Given the description of an element on the screen output the (x, y) to click on. 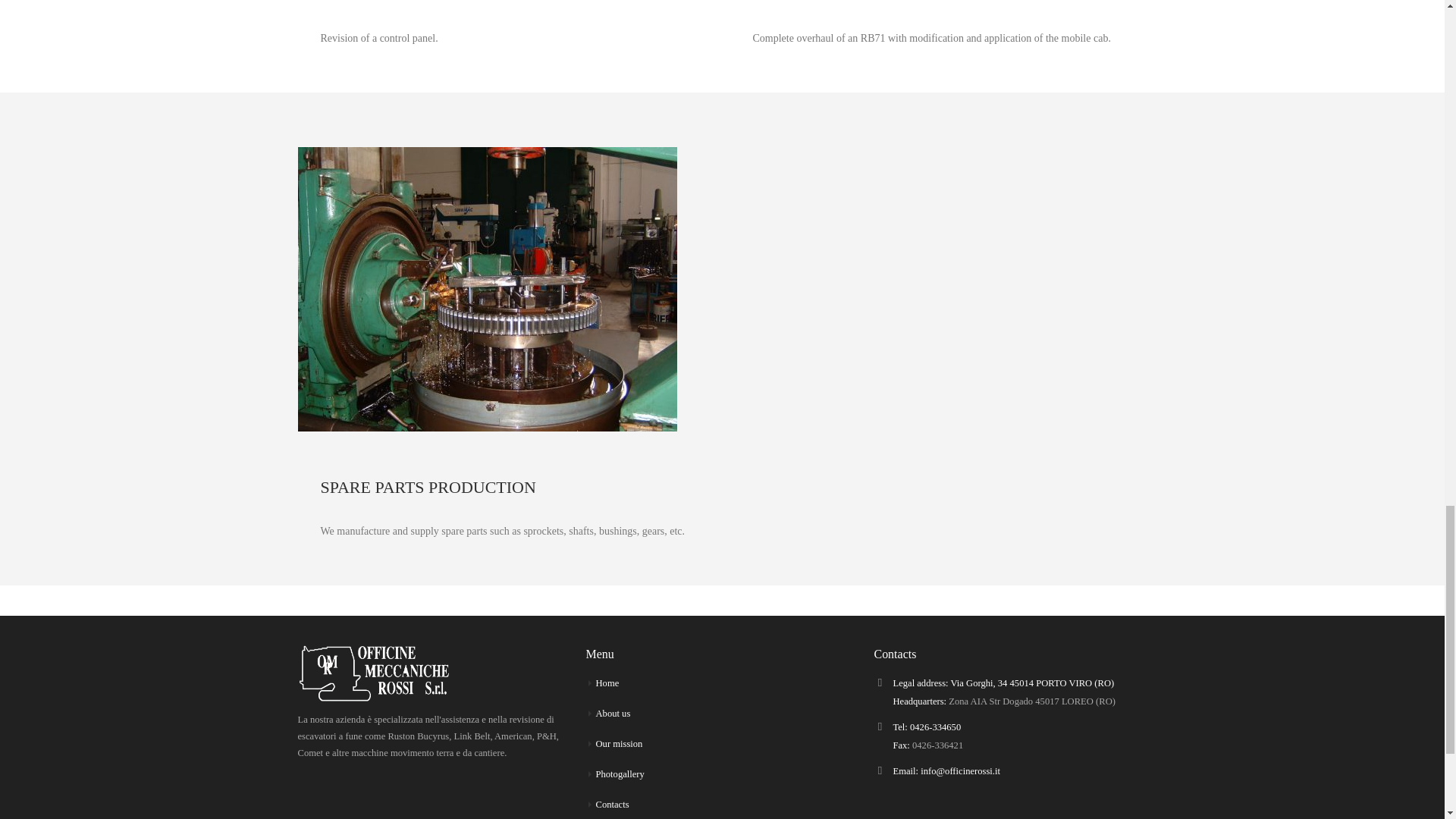
Our mission (618, 743)
Home (606, 683)
Photogallery (619, 774)
About us (612, 713)
Contacts (611, 804)
